Given the description of an element on the screen output the (x, y) to click on. 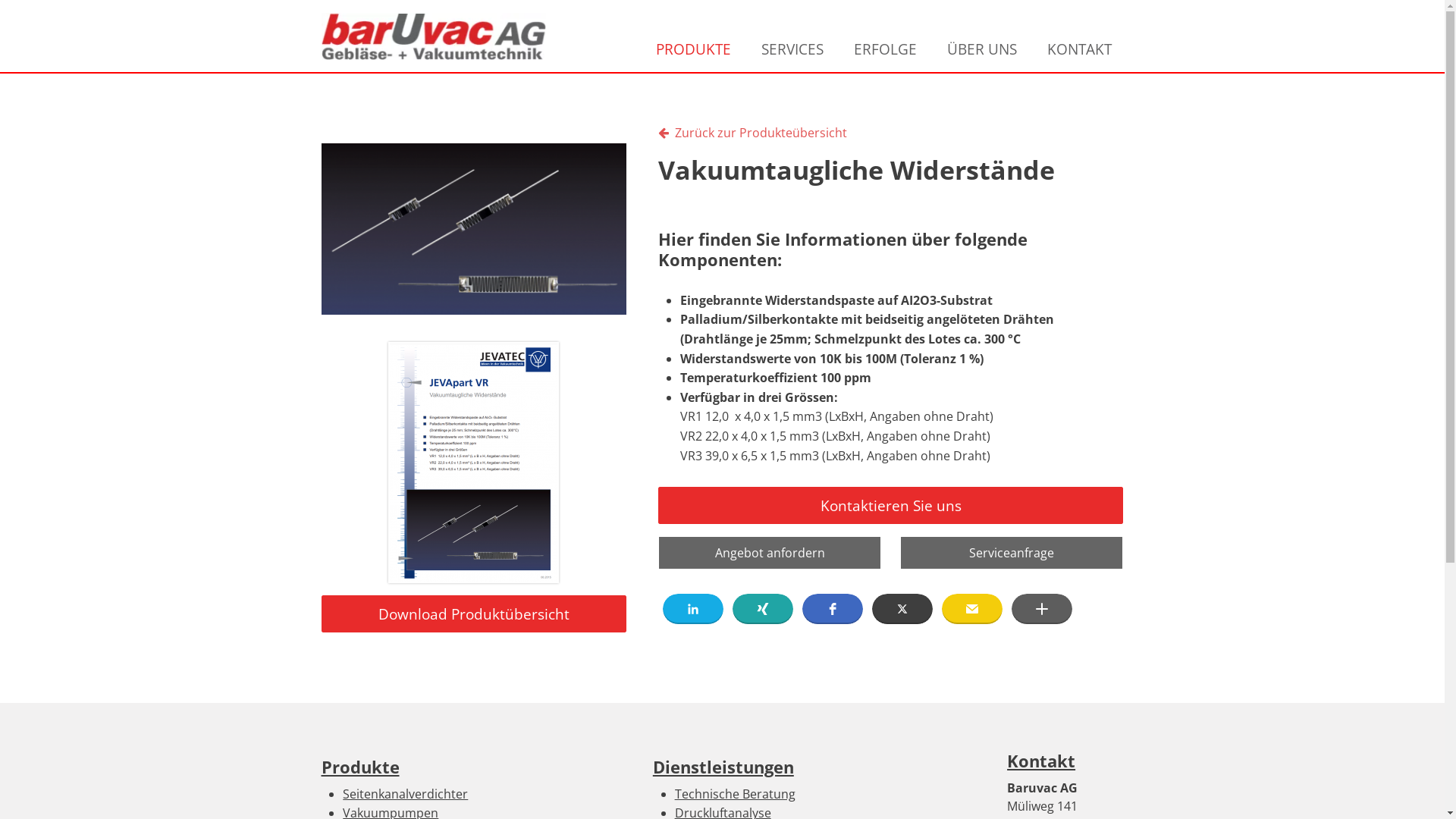
PRODUKTE Element type: text (693, 48)
ERFOLGE Element type: text (885, 48)
Seitenkanalverdichter Element type: text (404, 793)
Produkte Element type: text (360, 766)
Xing Element type: hover (762, 608)
Schraubenkompressor L03 mit fester Drehzahl Element type: hover (473, 228)
Serviceanfrage Element type: text (1011, 552)
Kontakt Element type: text (1041, 760)
Facebook Element type: hover (832, 608)
Dienstleistungen Element type: text (722, 766)
SERVICES Element type: text (791, 48)
Email Element type: hover (971, 608)
Technische Beratung Element type: text (734, 793)
More Element type: hover (1041, 608)
KONTAKT Element type: text (1079, 48)
Twitter Element type: hover (902, 608)
Kontaktieren Sie uns Element type: text (890, 505)
Angebot anfordern Element type: text (769, 552)
LinkedIn Element type: hover (692, 608)
